Given the description of an element on the screen output the (x, y) to click on. 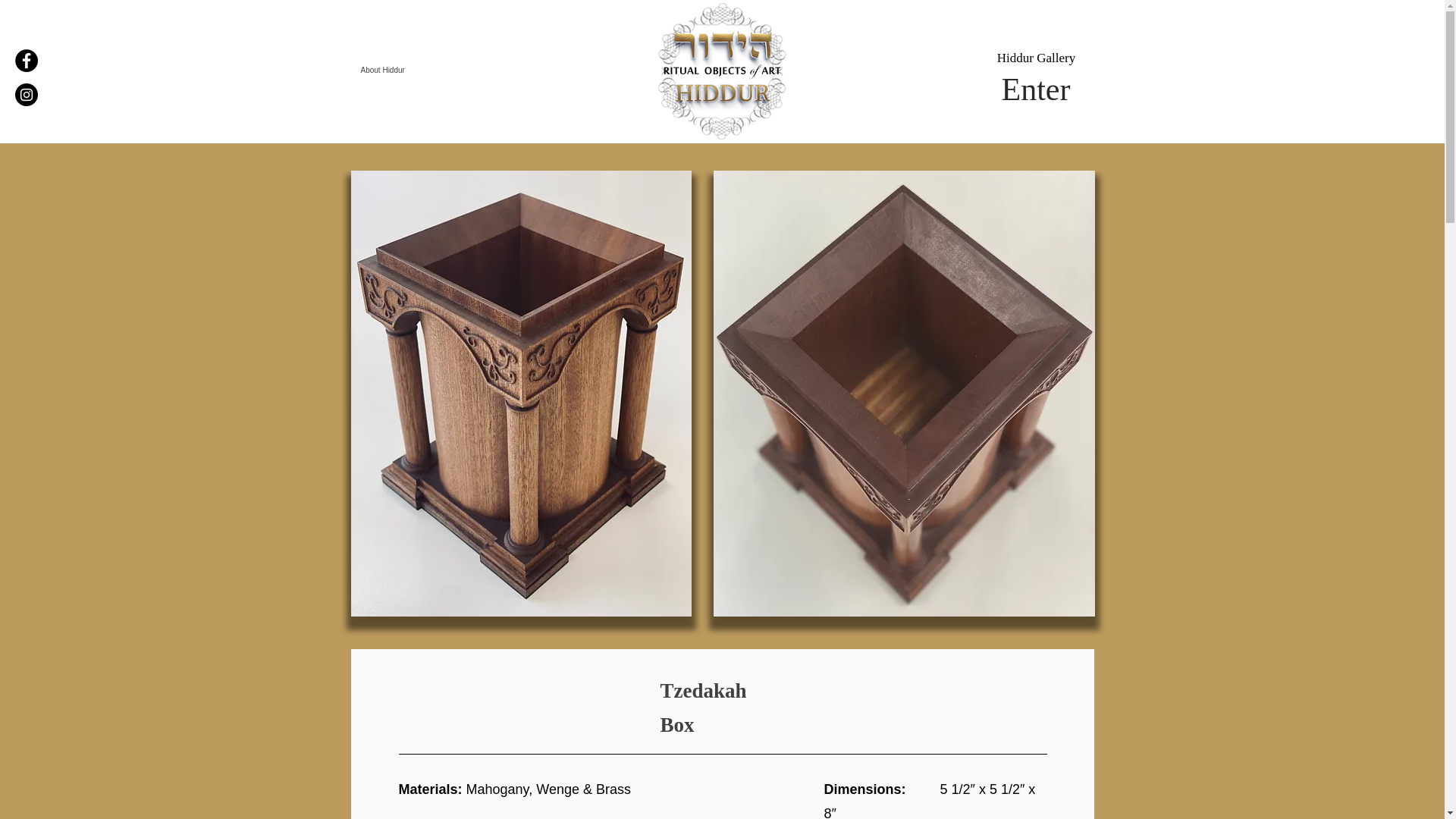
Enter (1035, 89)
About Hiddur (438, 69)
Hiddur Gallery (1036, 58)
